Given the description of an element on the screen output the (x, y) to click on. 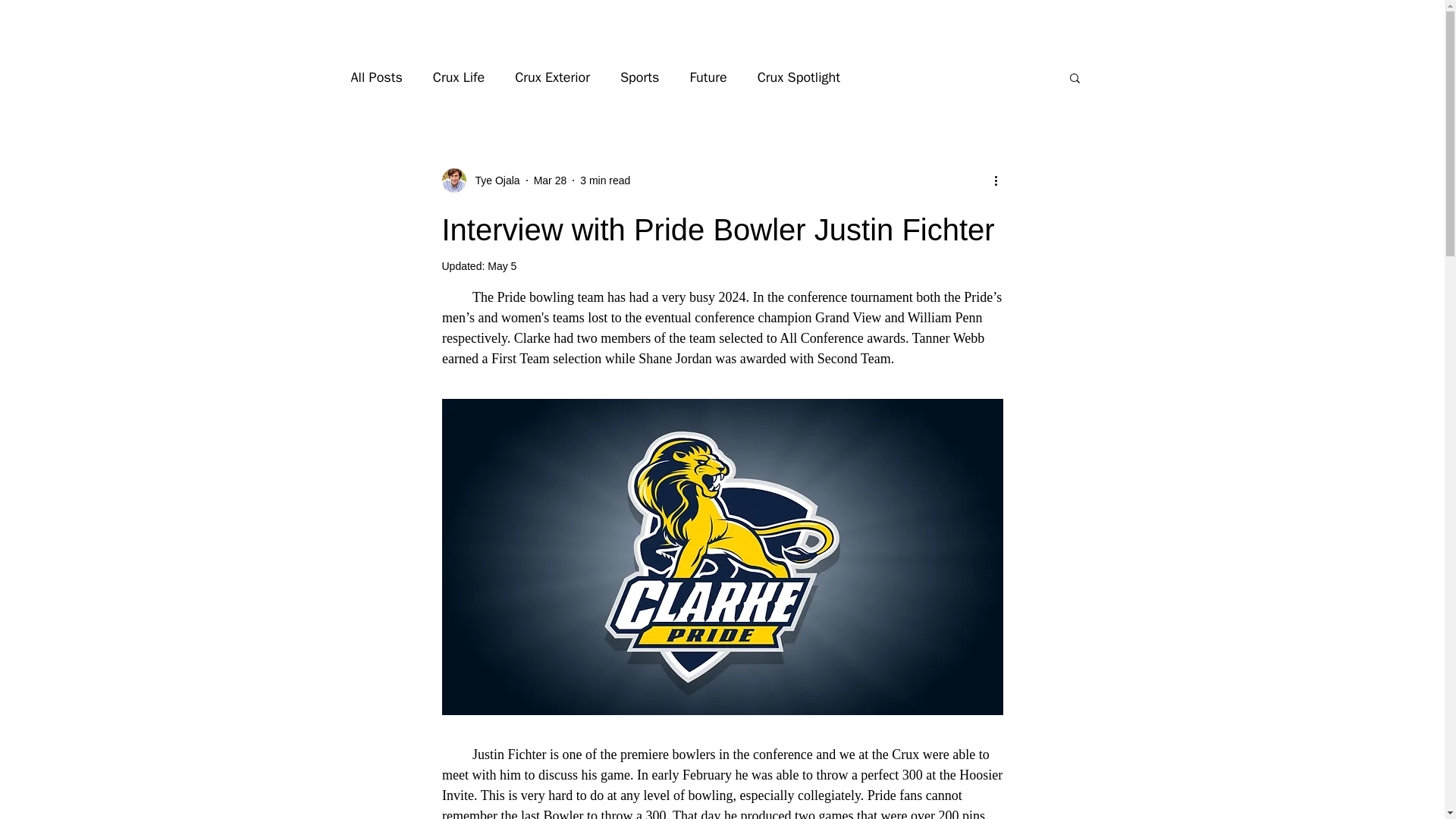
Mar 28 (550, 180)
Crux Life (458, 76)
3 min read (604, 180)
Sports (639, 76)
Crux Spotlight (798, 76)
Future (707, 76)
Crux Exterior (552, 76)
Tye Ojala (492, 180)
May 5 (501, 265)
All Posts (375, 76)
THE CRUX (721, 23)
